Given the description of an element on the screen output the (x, y) to click on. 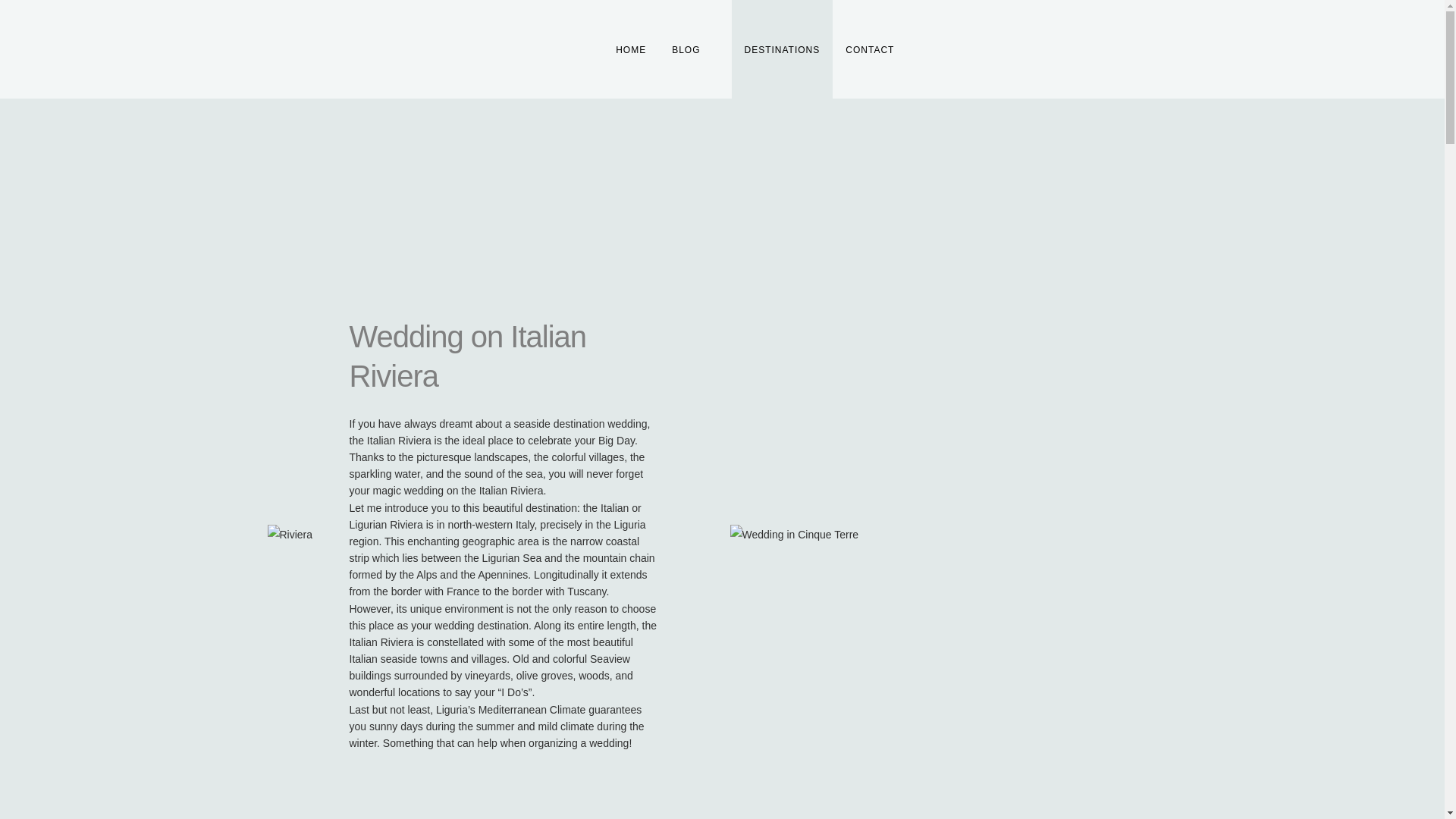
DESTINATIONS (781, 49)
wedding-on-italian-riviera (794, 534)
Riviera (289, 534)
